Given the description of an element on the screen output the (x, y) to click on. 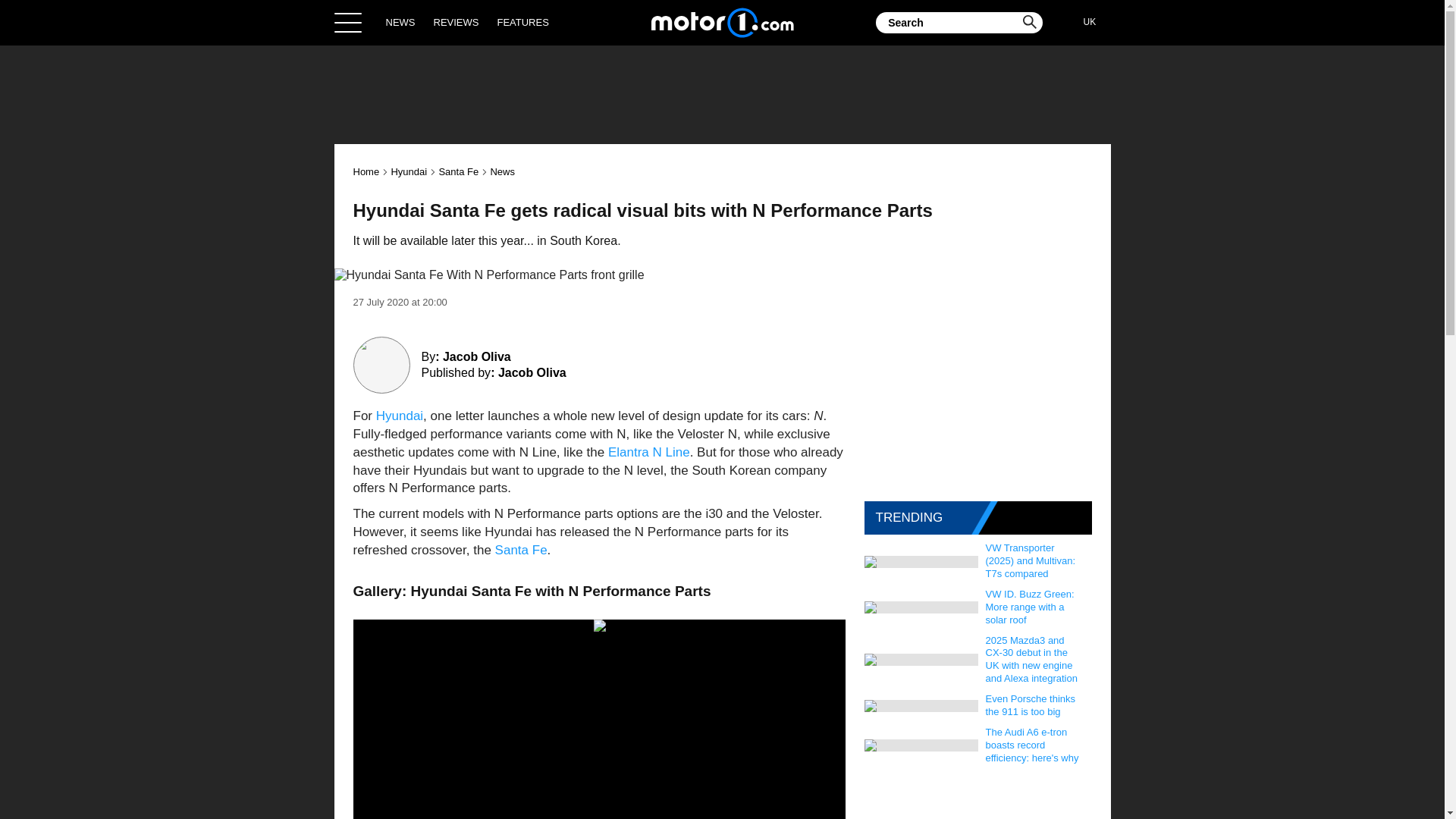
Home (366, 171)
Home (721, 22)
FEATURES (522, 22)
Santa Fe (458, 171)
Hyundai (399, 415)
Elantra N Line (649, 452)
REVIEWS (456, 22)
News (502, 171)
NEWS (399, 22)
Jacob Oliva (531, 372)
Santa Fe (521, 549)
Hyundai (408, 171)
